Given the description of an element on the screen output the (x, y) to click on. 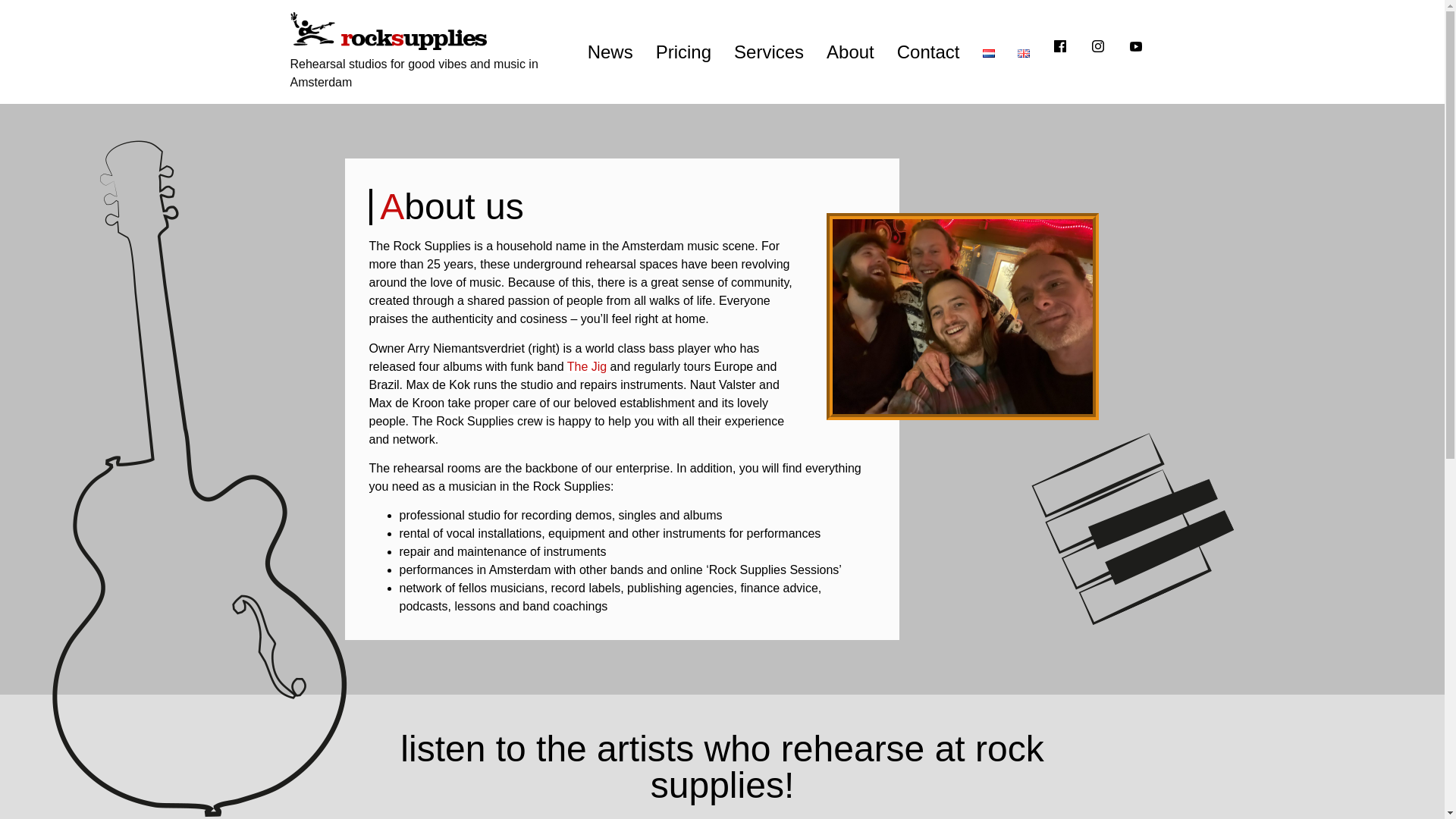
Pricing (683, 52)
News (610, 52)
About (850, 52)
Services (768, 52)
Contact (928, 52)
The Jig (587, 366)
